Given the description of an element on the screen output the (x, y) to click on. 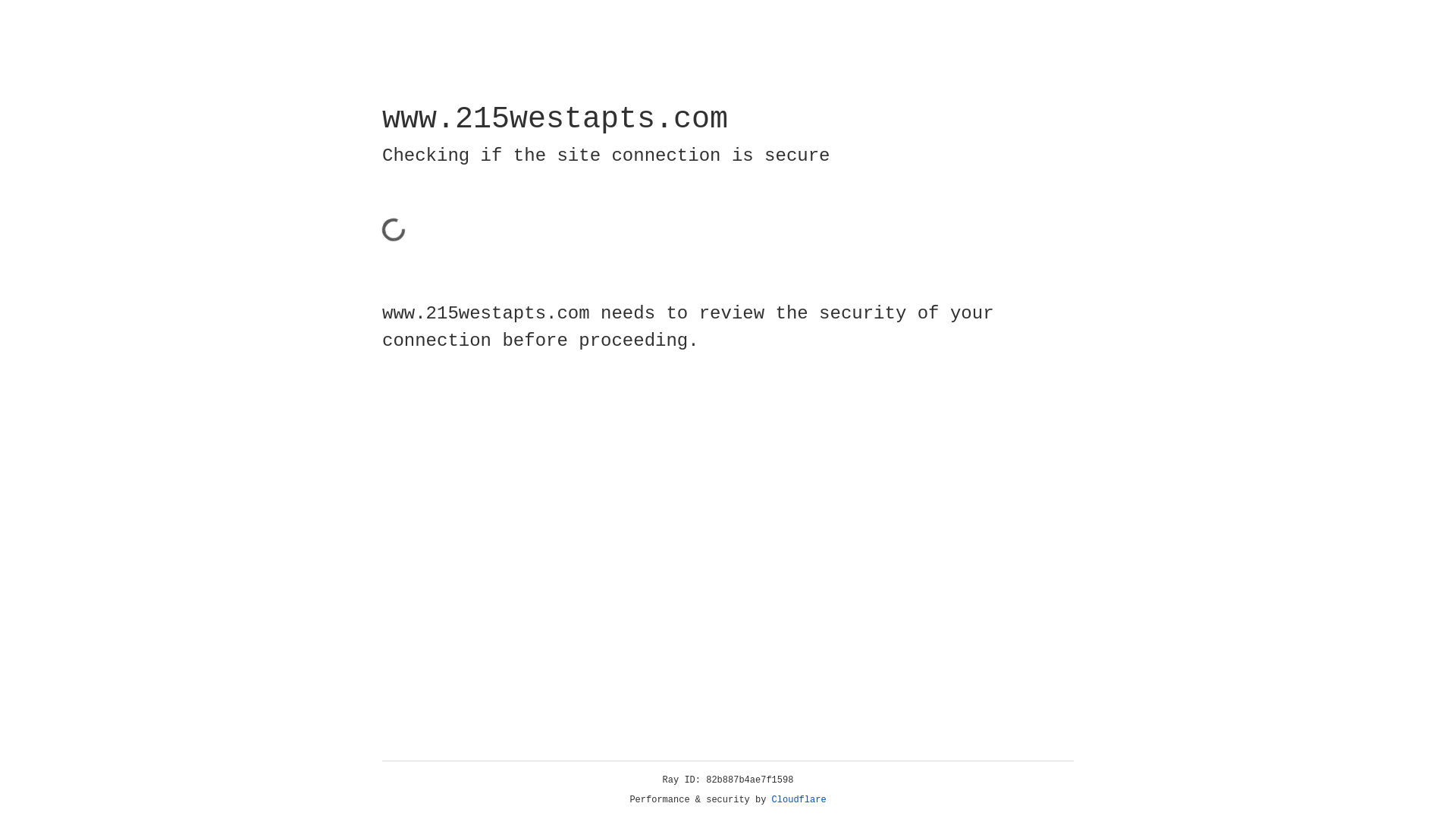
Cloudflare Element type: text (798, 799)
